Given the description of an element on the screen output the (x, y) to click on. 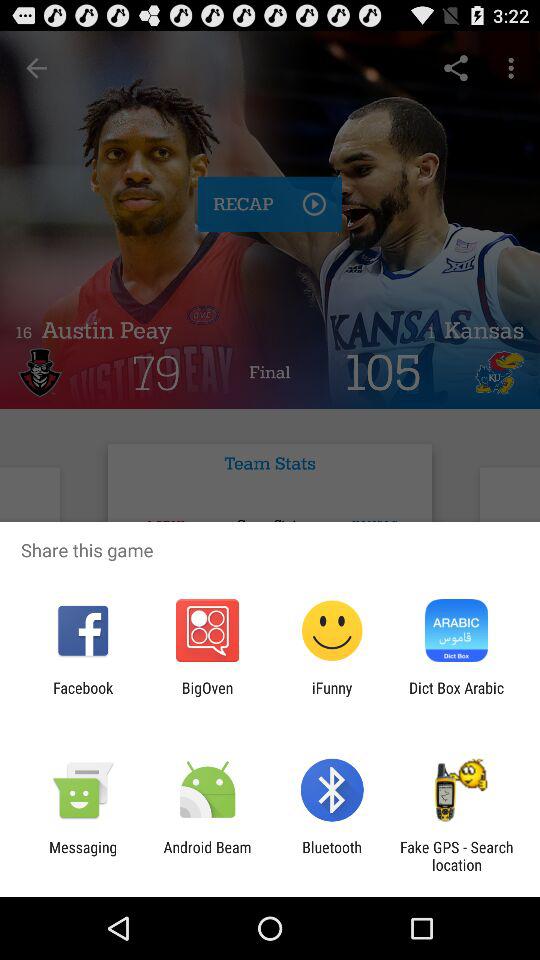
select item to the right of the android beam item (331, 856)
